Given the description of an element on the screen output the (x, y) to click on. 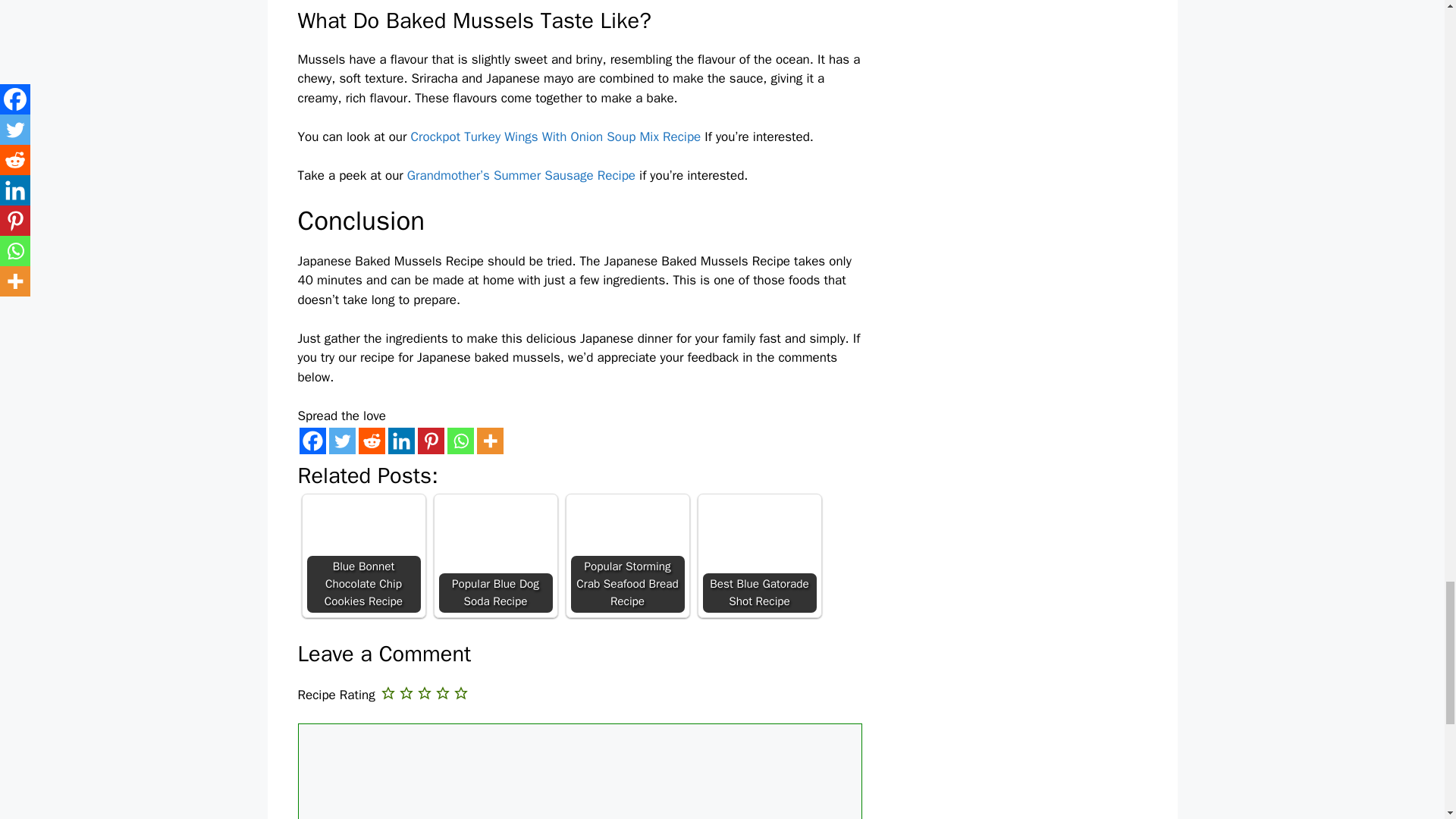
Crockpot Turkey Wings With Onion Soup Mix Recipe (555, 136)
More (489, 440)
Linkedin (401, 440)
Whatsapp (460, 440)
Facebook (311, 440)
Reddit (371, 440)
Pinterest (430, 440)
Twitter (342, 440)
